Given the description of an element on the screen output the (x, y) to click on. 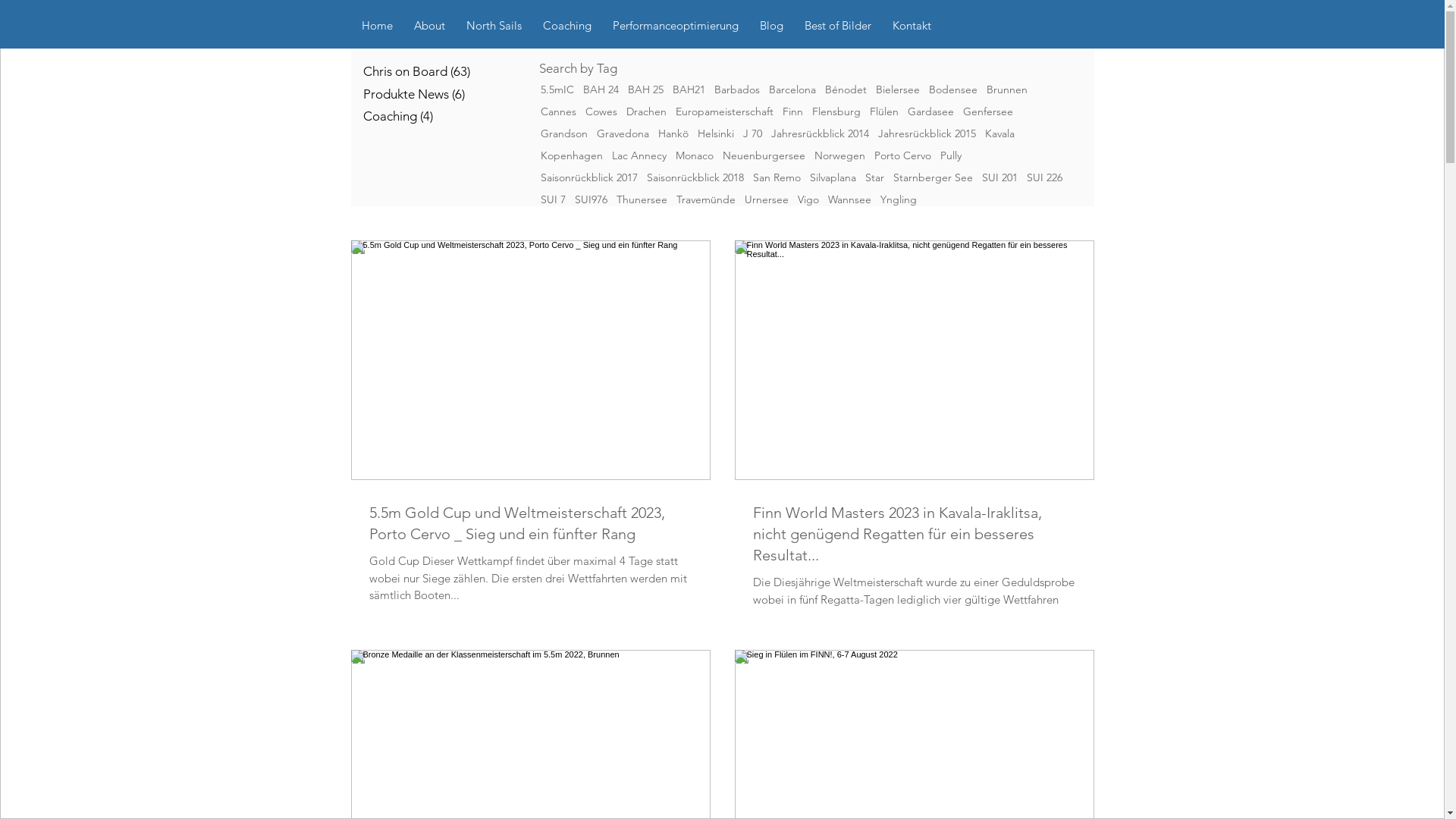
Porto Cervo Element type: text (901, 155)
Kavala Element type: text (998, 133)
Cannes Element type: text (557, 111)
Thunersee Element type: text (640, 199)
SUI 201 Element type: text (998, 177)
Starnberger See Element type: text (932, 177)
BAH 24 Element type: text (600, 89)
Finn Element type: text (792, 111)
Performanceoptimierung Element type: text (675, 25)
SUI 7 Element type: text (551, 199)
J 70 Element type: text (752, 133)
Wannsee Element type: text (849, 199)
Helsinki Element type: text (715, 133)
5.5mIC Element type: text (556, 89)
Pully Element type: text (950, 155)
Lac Annecy Element type: text (638, 155)
Grandson Element type: text (562, 133)
SUI976 Element type: text (590, 199)
About Element type: text (429, 25)
Monaco Element type: text (693, 155)
Urnersee Element type: text (766, 199)
Silvaplana Element type: text (832, 177)
Genfersee Element type: text (988, 111)
Coaching (4) Element type: text (471, 116)
Europameisterschaft Element type: text (723, 111)
Home Element type: text (376, 25)
Blog Element type: text (771, 25)
Barcelona Element type: text (791, 89)
Gardasee Element type: text (929, 111)
Neuenburgersee Element type: text (762, 155)
Coaching Element type: text (567, 25)
Gravedona Element type: text (622, 133)
SUI 226 Element type: text (1044, 177)
Bodensee Element type: text (952, 89)
Bielersee Element type: text (897, 89)
Best of Bilder Element type: text (837, 25)
Vigo Element type: text (808, 199)
Barbados Element type: text (736, 89)
Produkte News (6) Element type: text (471, 94)
Norwegen Element type: text (839, 155)
Kontakt Element type: text (911, 25)
Flensburg Element type: text (835, 111)
Drachen Element type: text (646, 111)
San Remo Element type: text (776, 177)
BAH 25 Element type: text (645, 89)
North Sails Element type: text (493, 25)
Brunnen Element type: text (1005, 89)
Kopenhagen Element type: text (570, 155)
BAH21 Element type: text (687, 89)
Cowes Element type: text (601, 111)
Star Element type: text (873, 177)
Chris on Board (63) Element type: text (471, 71)
Yngling Element type: text (897, 199)
